Given the description of an element on the screen output the (x, y) to click on. 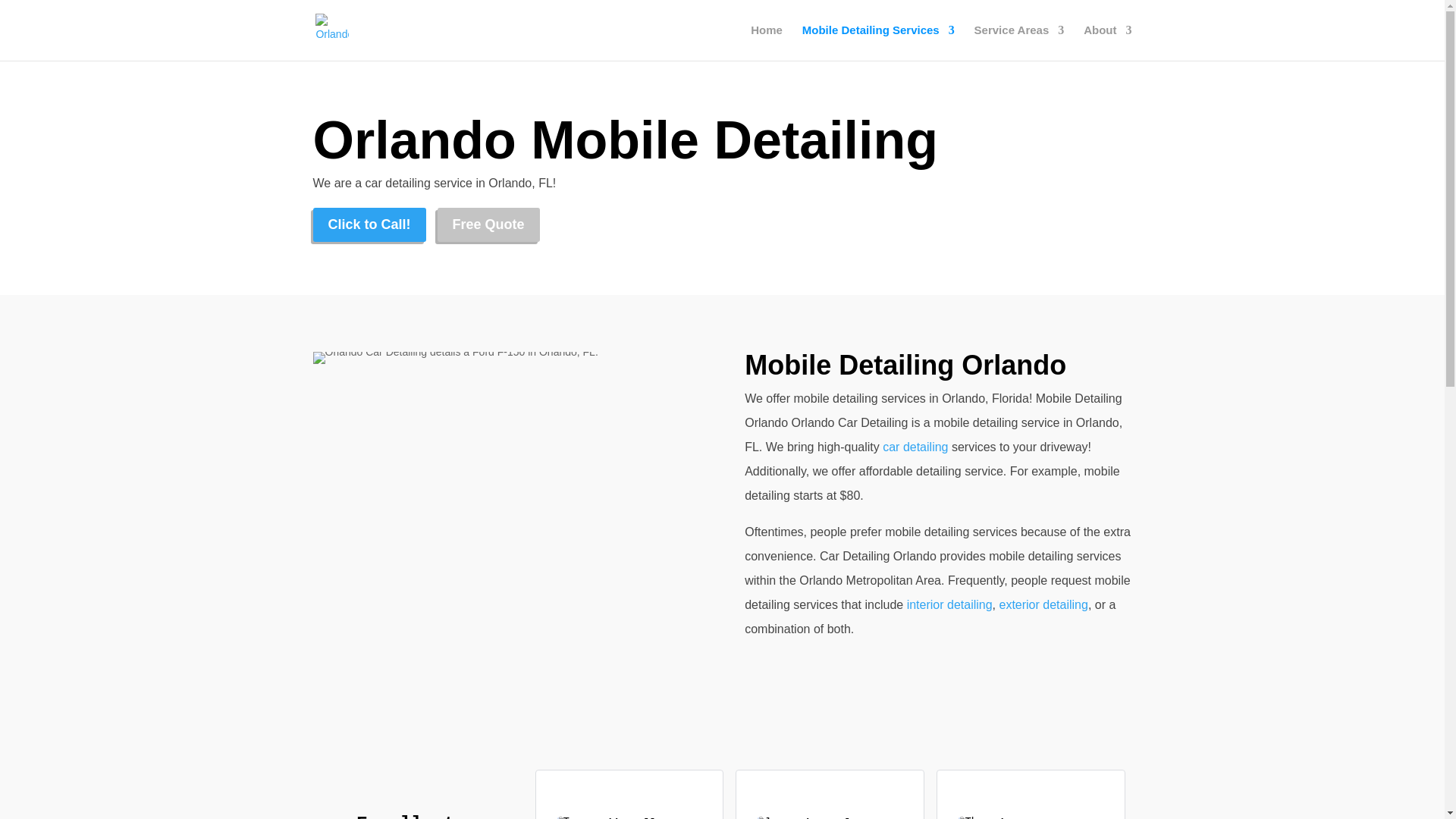
Service Areas (1019, 42)
Free Quote (489, 224)
interior detailing (949, 604)
Orlando Mobile Detailing Services (454, 357)
About (1107, 42)
car detailing (914, 446)
Mobile Detailing Services (878, 42)
exterior detailing (1042, 604)
Click to Call! (369, 224)
Home (767, 42)
